Given the description of an element on the screen output the (x, y) to click on. 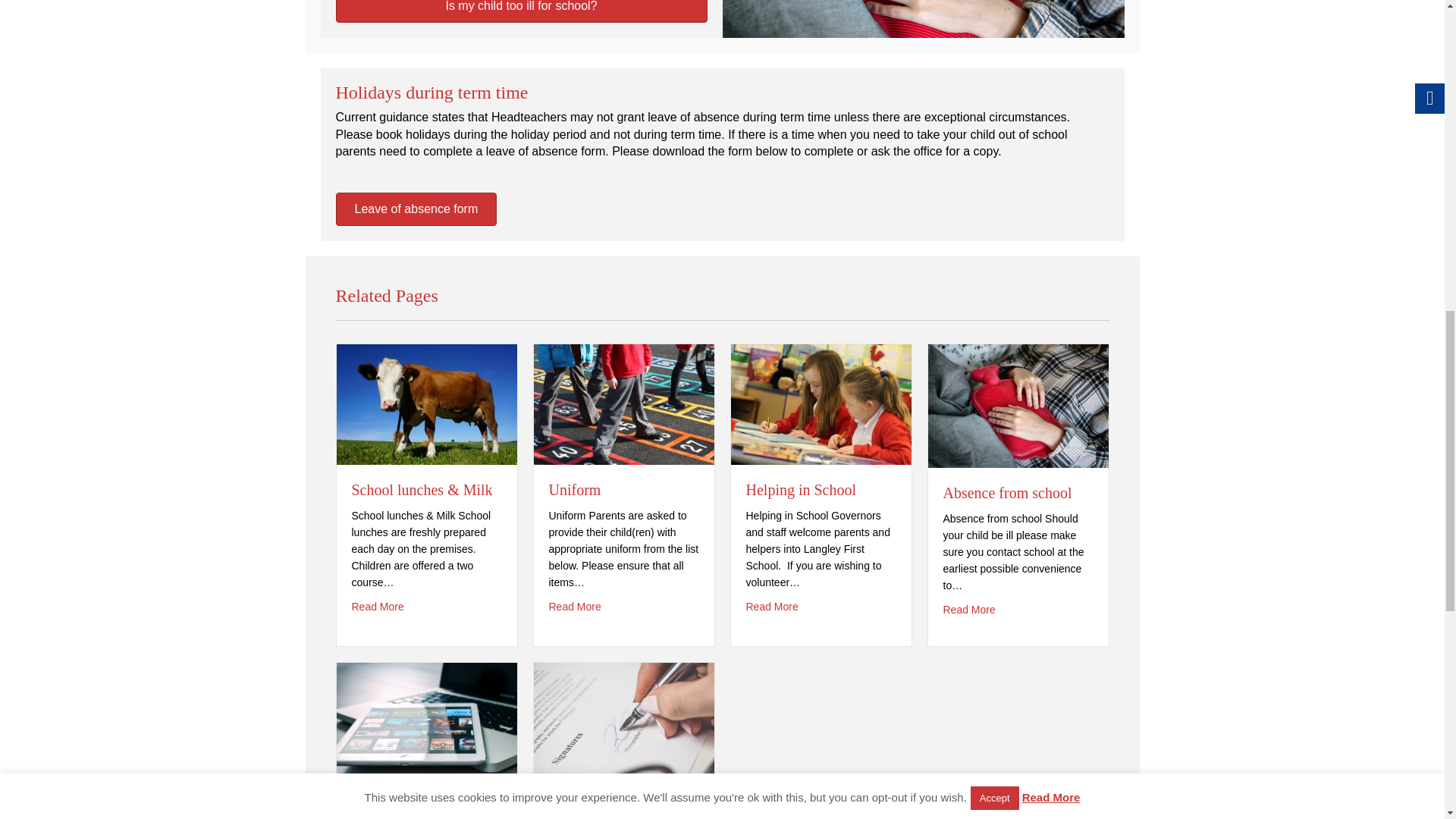
Absence from school (1018, 404)
Home School Links (426, 721)
Helping in School (801, 489)
Helping in School (771, 606)
Uniform (624, 403)
Uniform (574, 606)
Helping in School (820, 403)
Absence from school (1007, 492)
Uniform (574, 489)
Absence from school (969, 609)
